Given the description of an element on the screen output the (x, y) to click on. 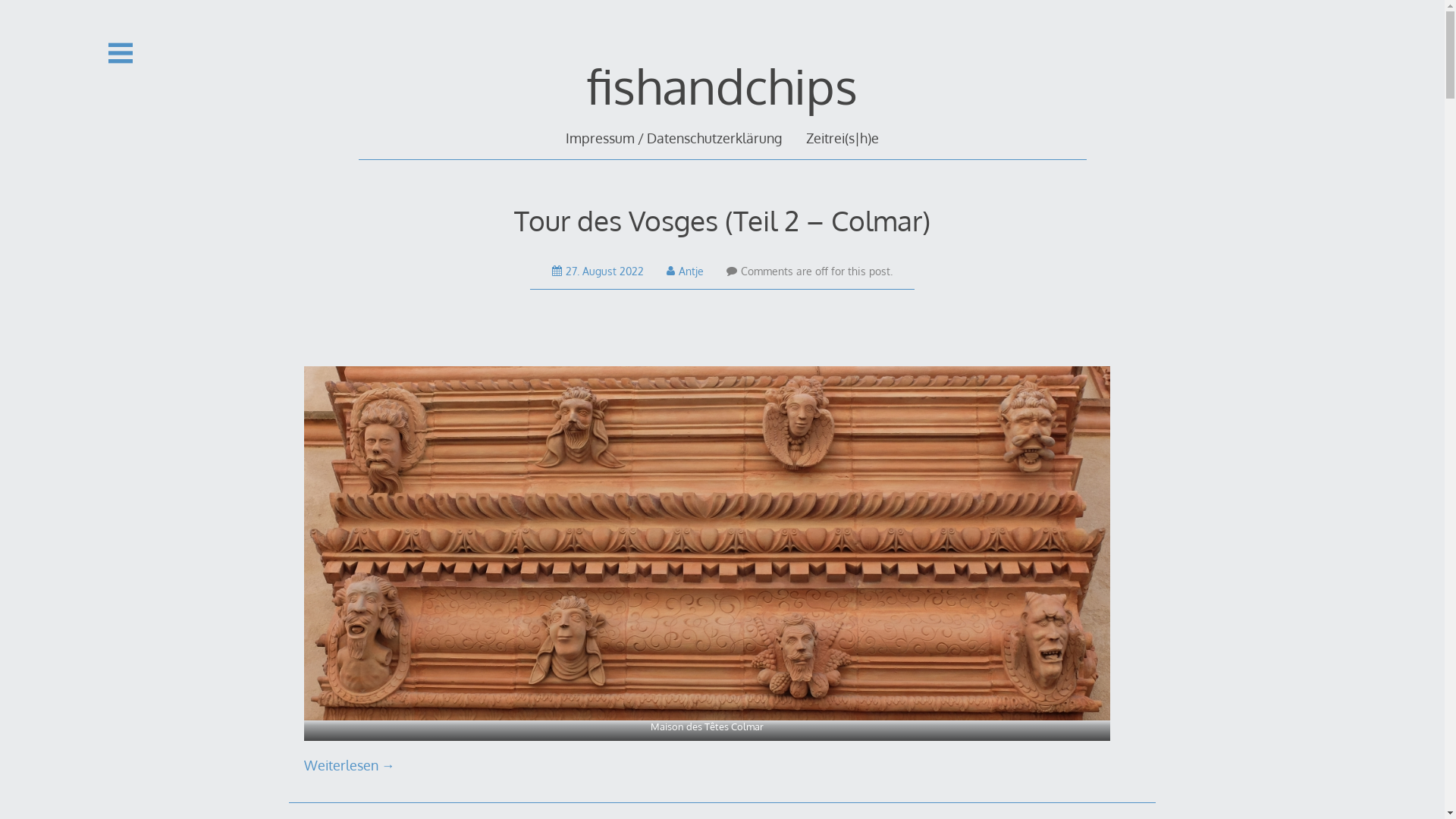
Zeitrei(s|h)e Element type: text (842, 137)
27. August 2022
28. August 2022 Element type: text (597, 270)
Antje Element type: text (684, 270)
fishandchips Element type: text (721, 85)
Seitenleiste anzeigen Element type: hover (120, 52)
